Given the description of an element on the screen output the (x, y) to click on. 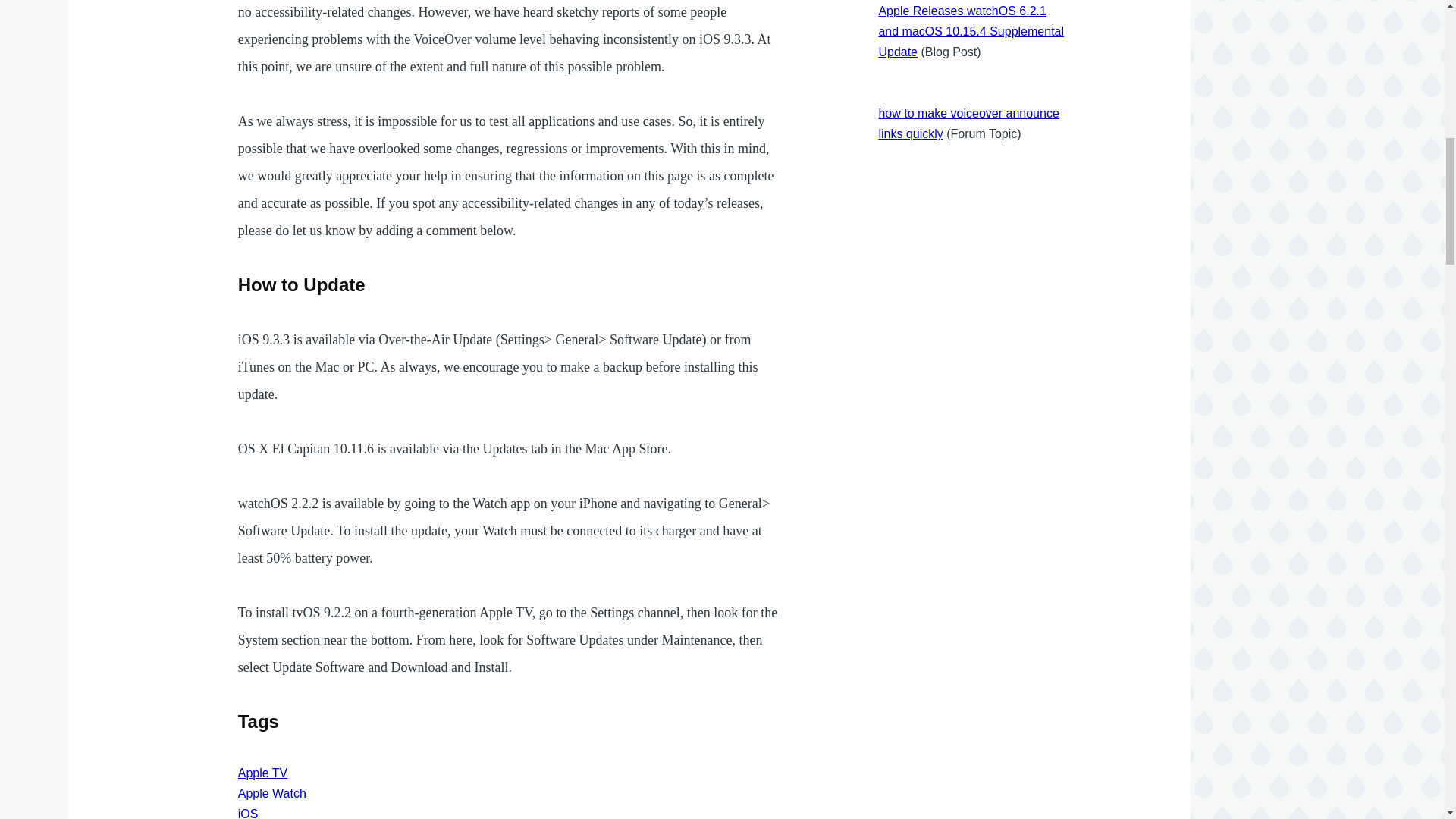
Apple Watch (271, 793)
iOS (248, 813)
Apple TV (263, 772)
